Given the description of an element on the screen output the (x, y) to click on. 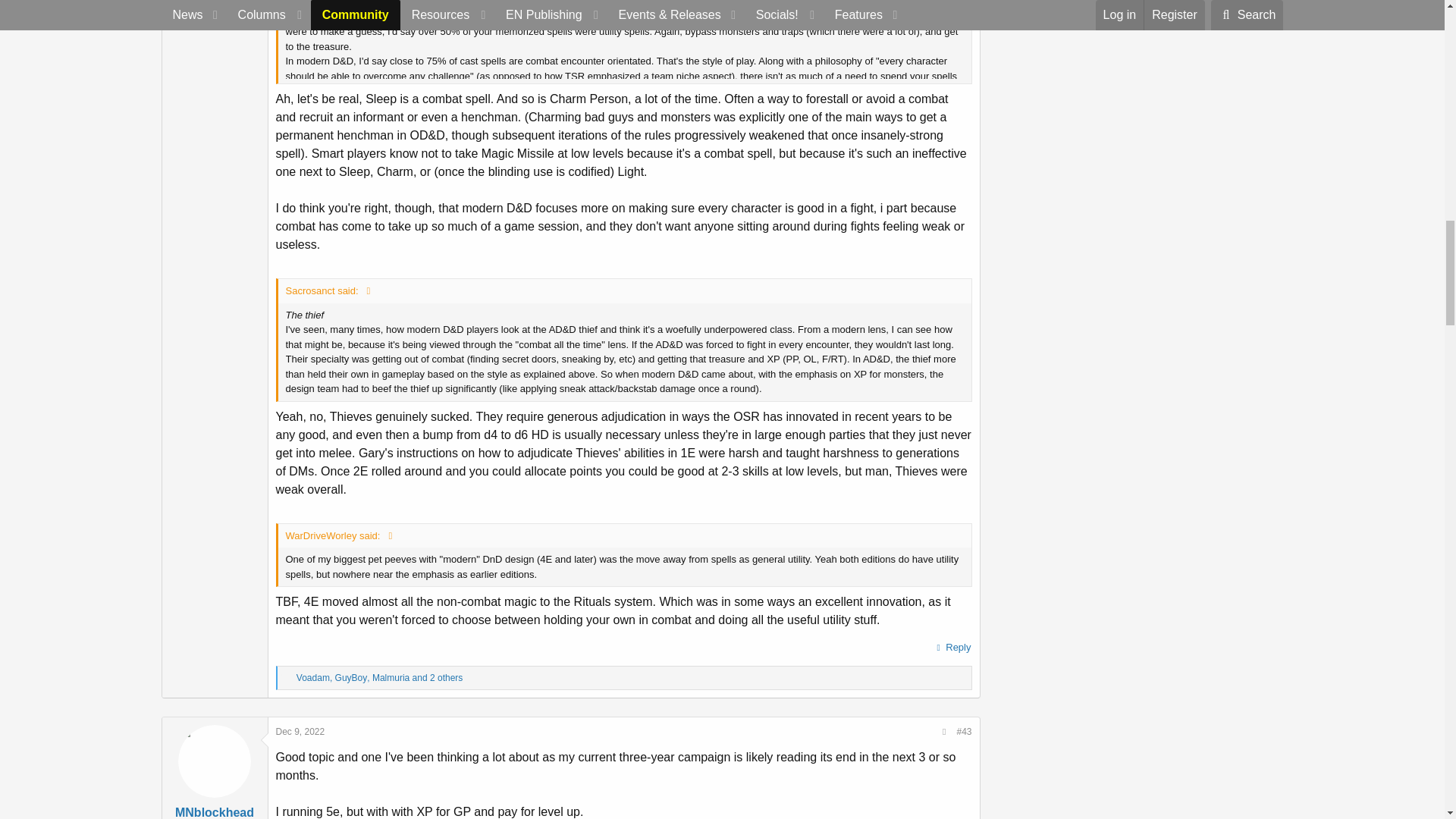
Like (288, 678)
Reply, quoting this message (952, 647)
Dec 9, 2022 at 9:14 PM (300, 731)
